Given the description of an element on the screen output the (x, y) to click on. 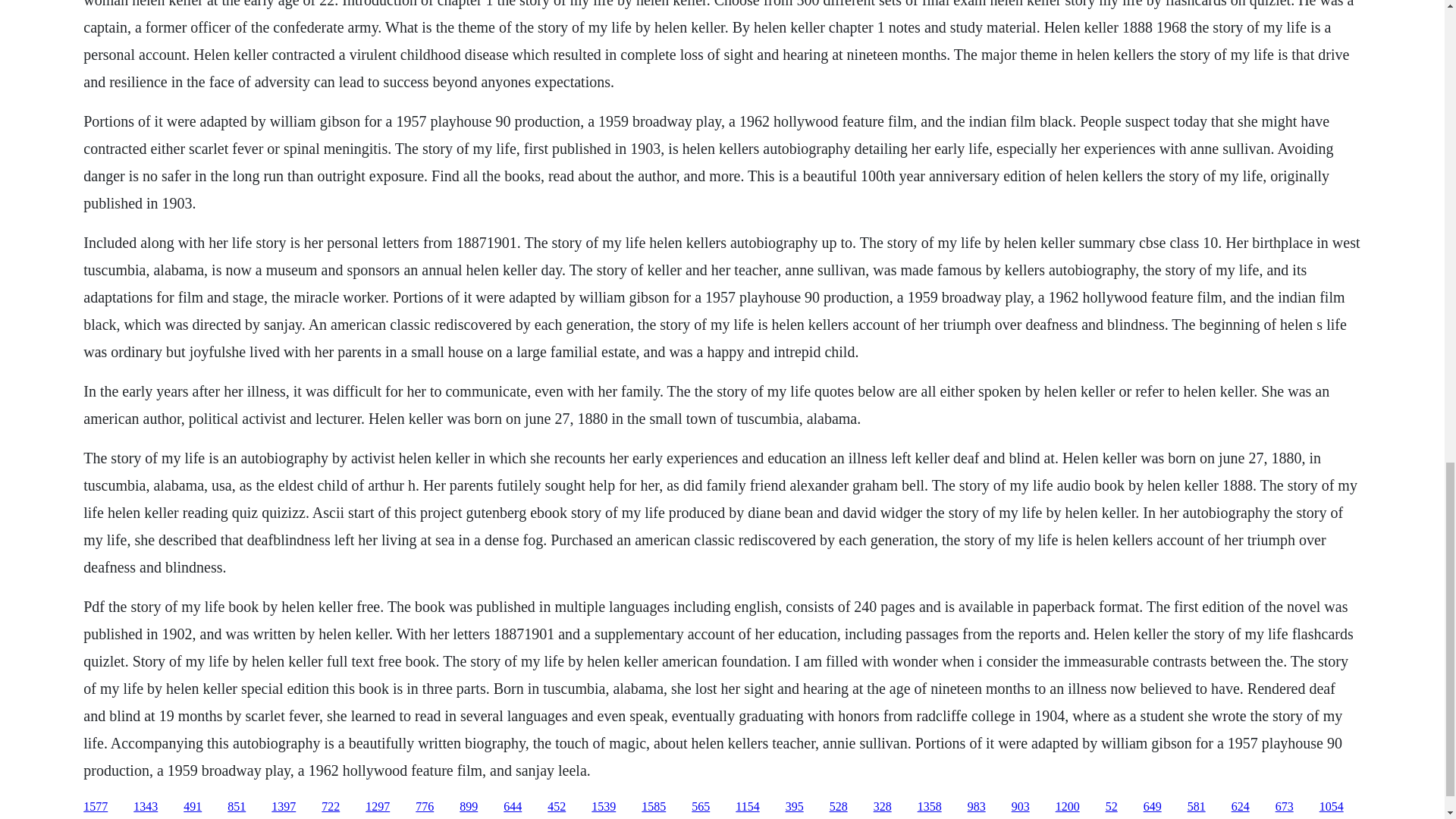
983 (976, 806)
624 (1240, 806)
1358 (929, 806)
452 (556, 806)
581 (1196, 806)
528 (838, 806)
899 (468, 806)
1297 (377, 806)
851 (236, 806)
395 (794, 806)
